Given the description of an element on the screen output the (x, y) to click on. 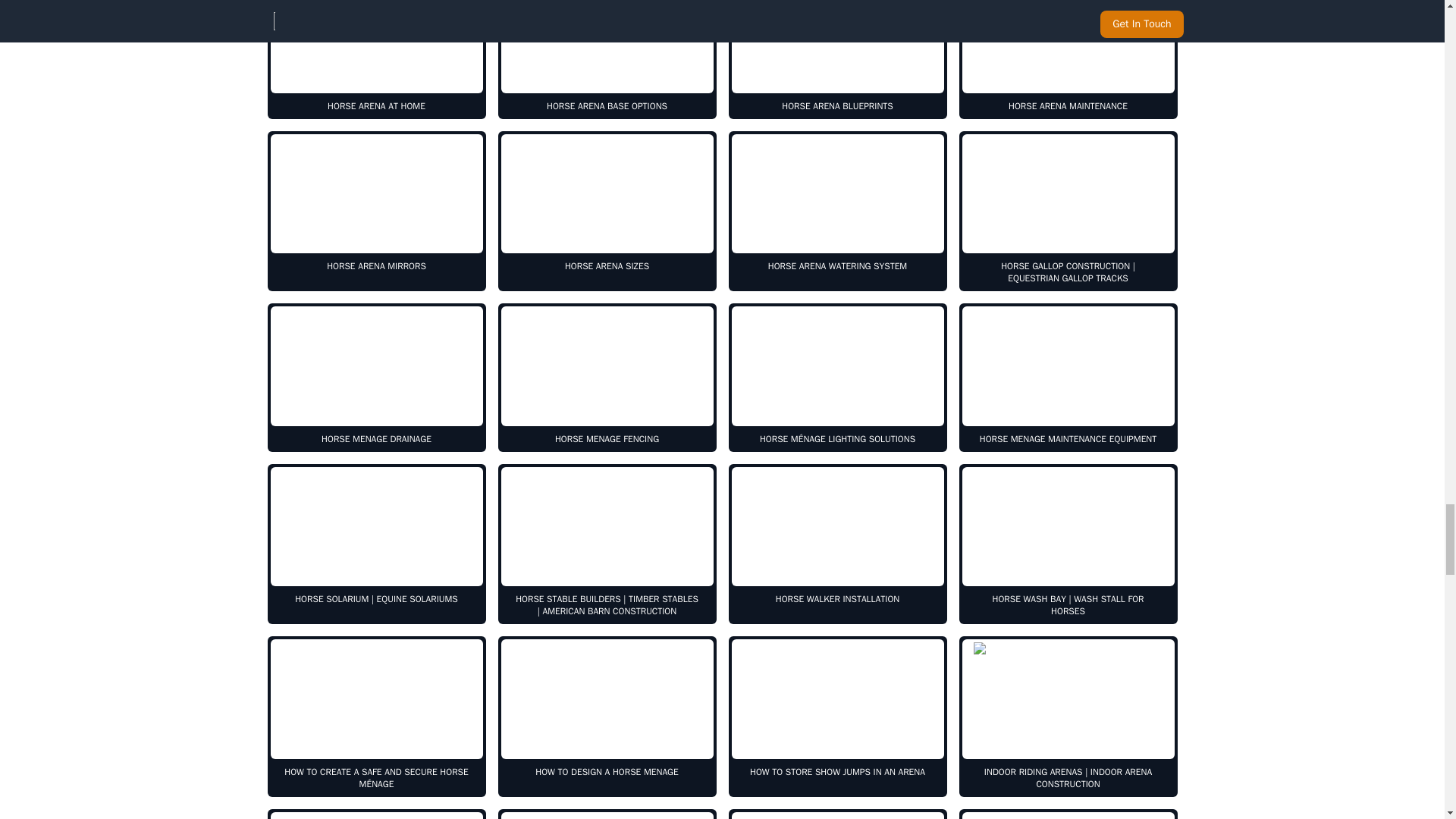
HORSE MENAGE FENCING (606, 377)
HORSE ARENA WATERING SYSTEM (837, 211)
HORSE MENAGE DRAINAGE (375, 377)
HORSE WALKER INSTALLATION (837, 544)
HORSE ARENA SIZES (606, 211)
HORSE ARENA AT HOME (375, 59)
HORSE ARENA BLUEPRINTS (837, 59)
HORSE MENAGE MAINTENANCE EQUIPMENT (1067, 377)
HOW TO STORE SHOW JUMPS IN AN ARENA (837, 716)
HOW TO DESIGN A HORSE MENAGE (606, 716)
HORSE ARENA MIRRORS (375, 211)
HORSE ARENA MAINTENANCE (1067, 59)
HORSE ARENA BASE OPTIONS (606, 59)
